Given the description of an element on the screen output the (x, y) to click on. 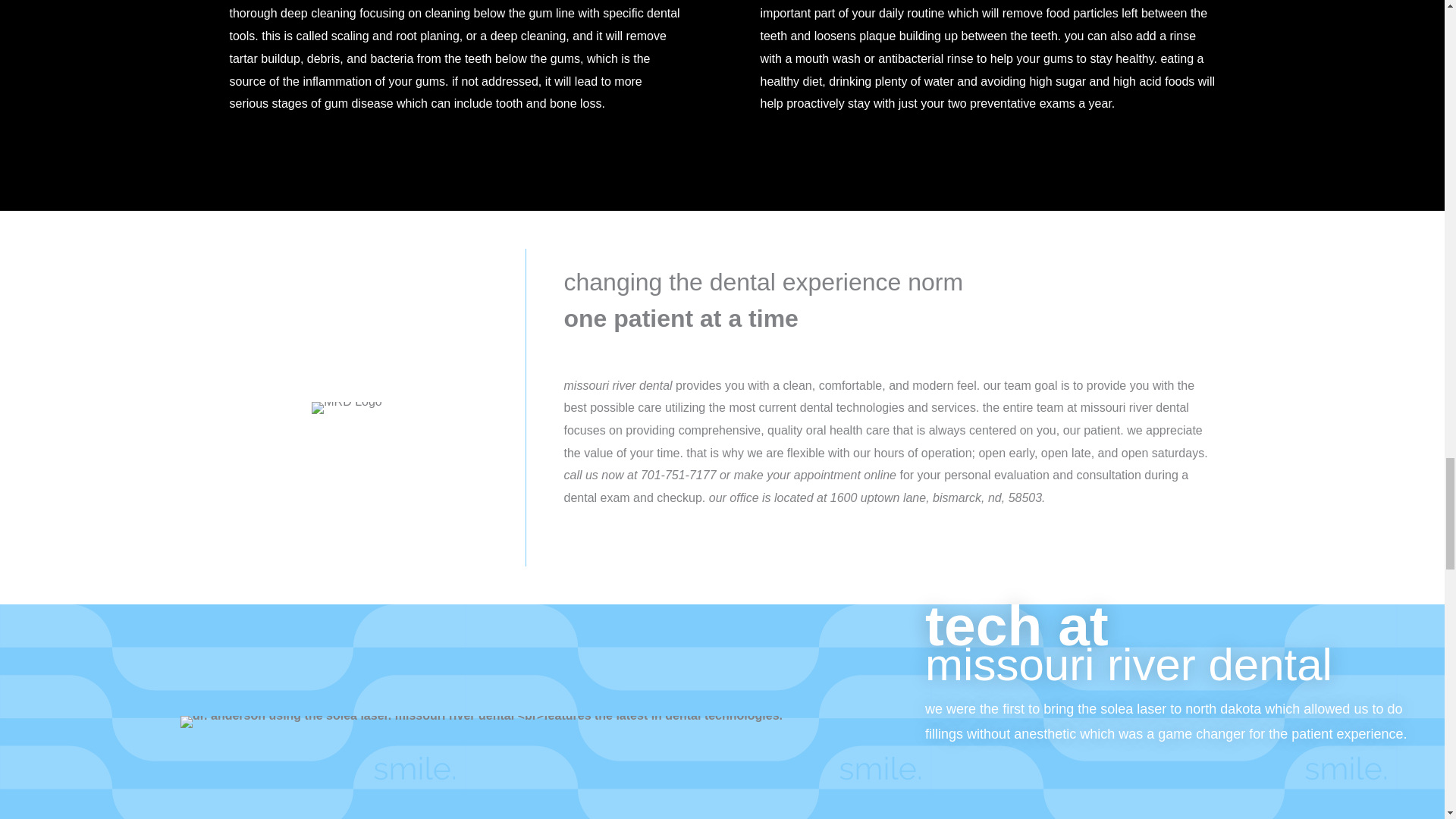
MRD Logo (346, 408)
